Given the description of an element on the screen output the (x, y) to click on. 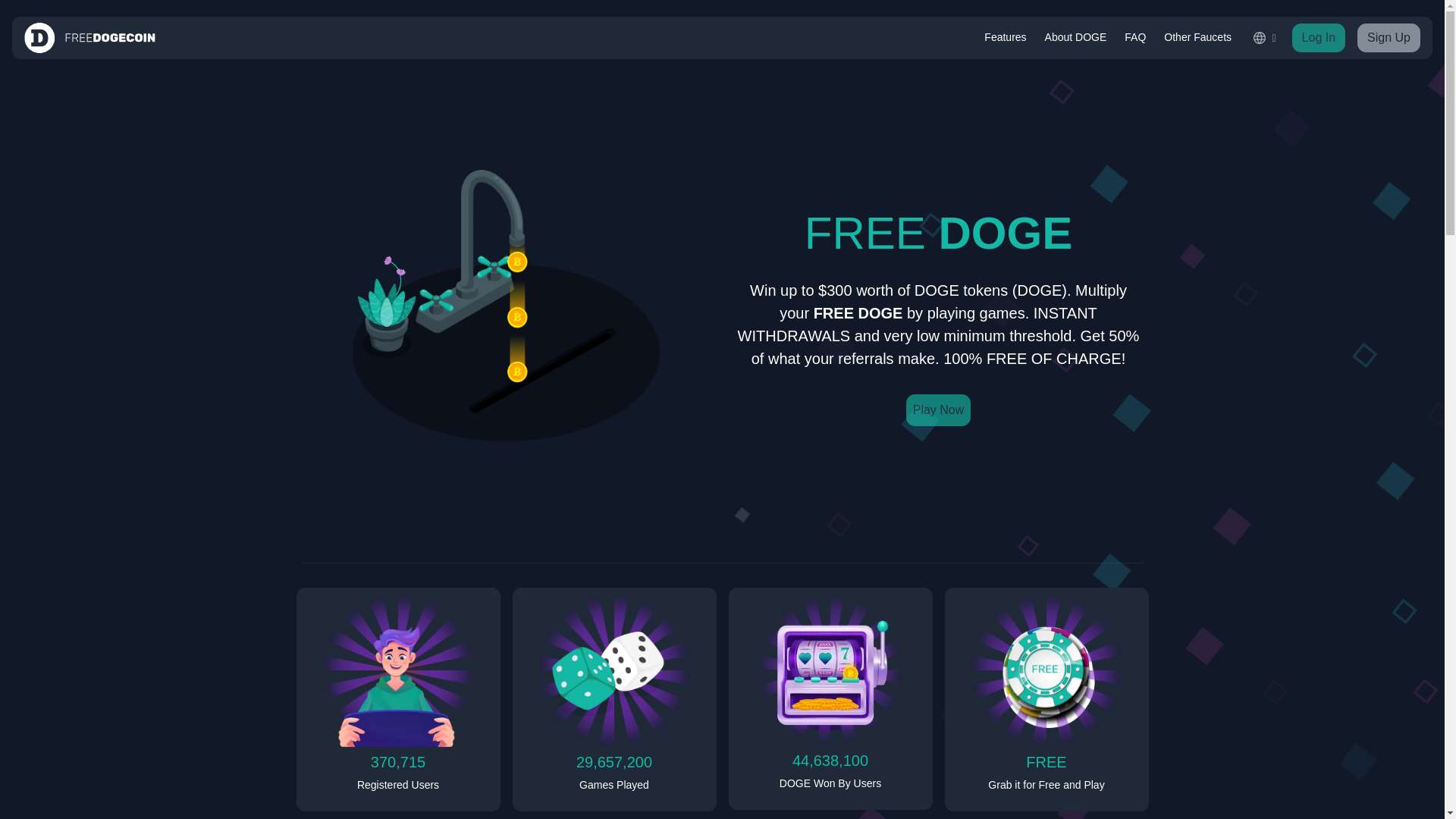
FAQ (1134, 37)
Play Now (938, 409)
Features (1005, 37)
Sign Up (1388, 37)
Other Faucets (1197, 37)
About DOGE (1076, 37)
Log In (1318, 37)
